Given the description of an element on the screen output the (x, y) to click on. 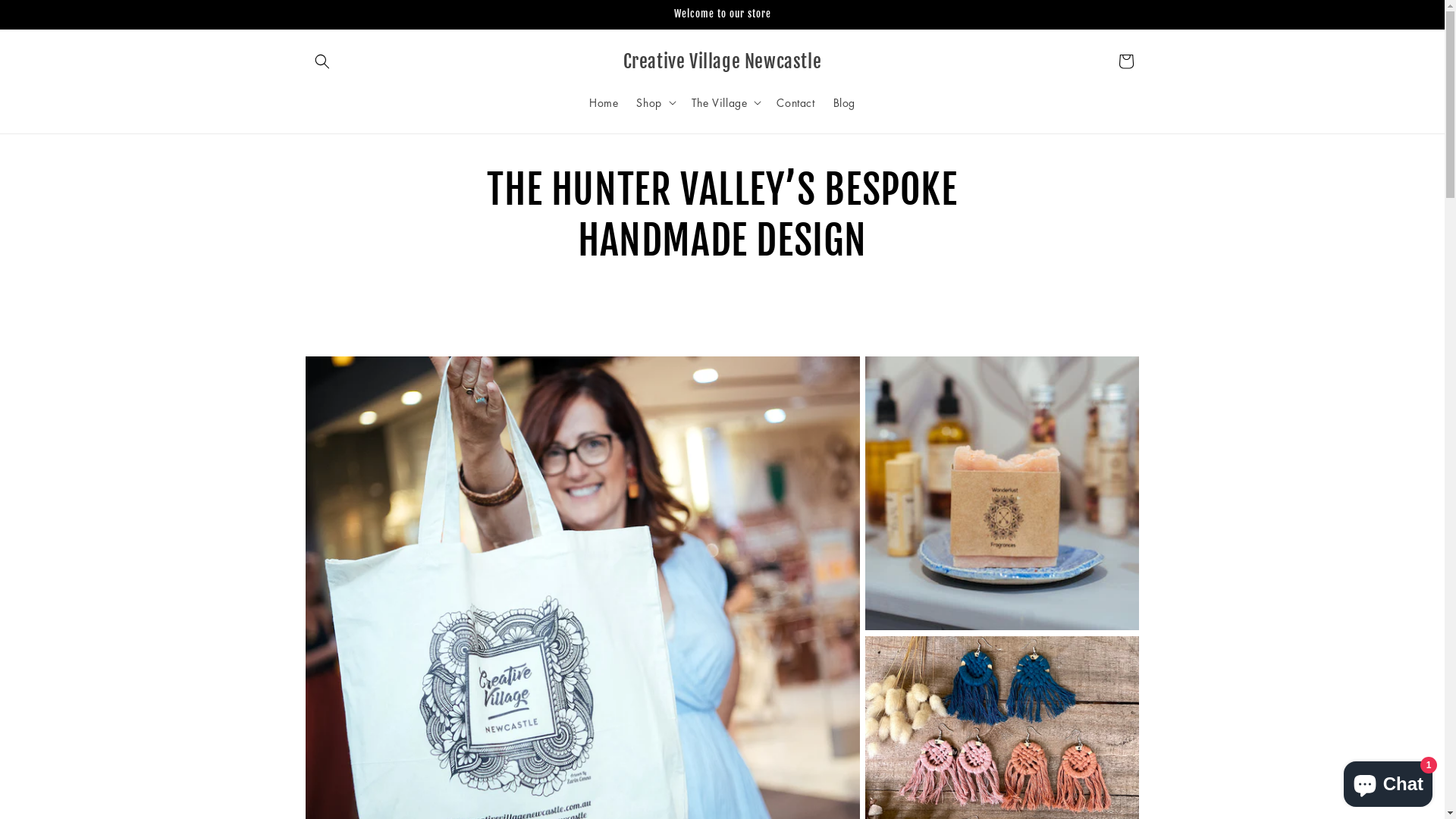
Creative Village Newcastle Element type: text (722, 61)
Cart Element type: text (1125, 61)
Shopify online store chat Element type: hover (1388, 780)
Blog Element type: text (844, 102)
Contact Element type: text (795, 102)
Home Element type: text (603, 102)
